Given the description of an element on the screen output the (x, y) to click on. 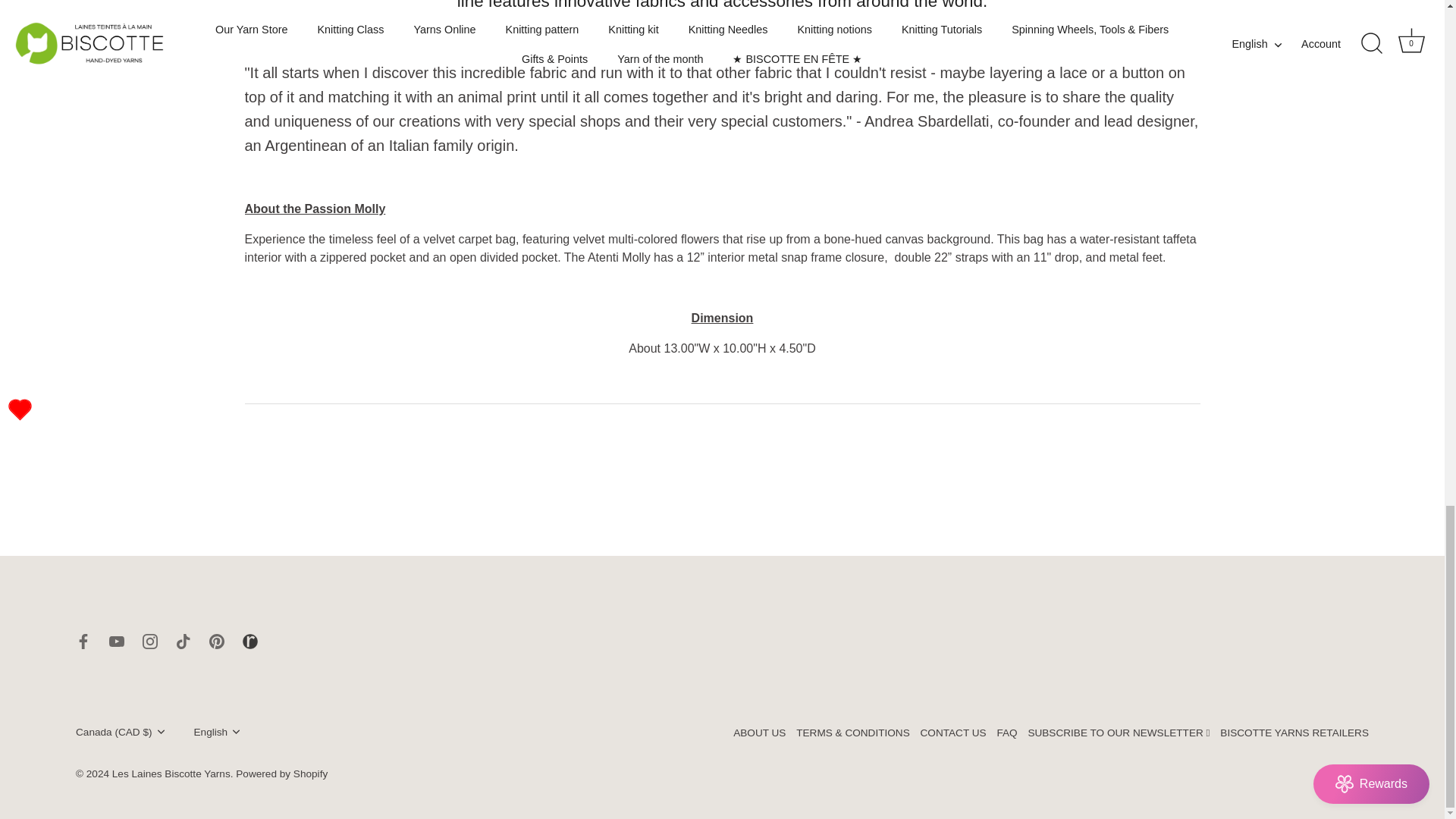
Instagram (149, 641)
Youtube (116, 641)
Pinterest (216, 641)
